Given the description of an element on the screen output the (x, y) to click on. 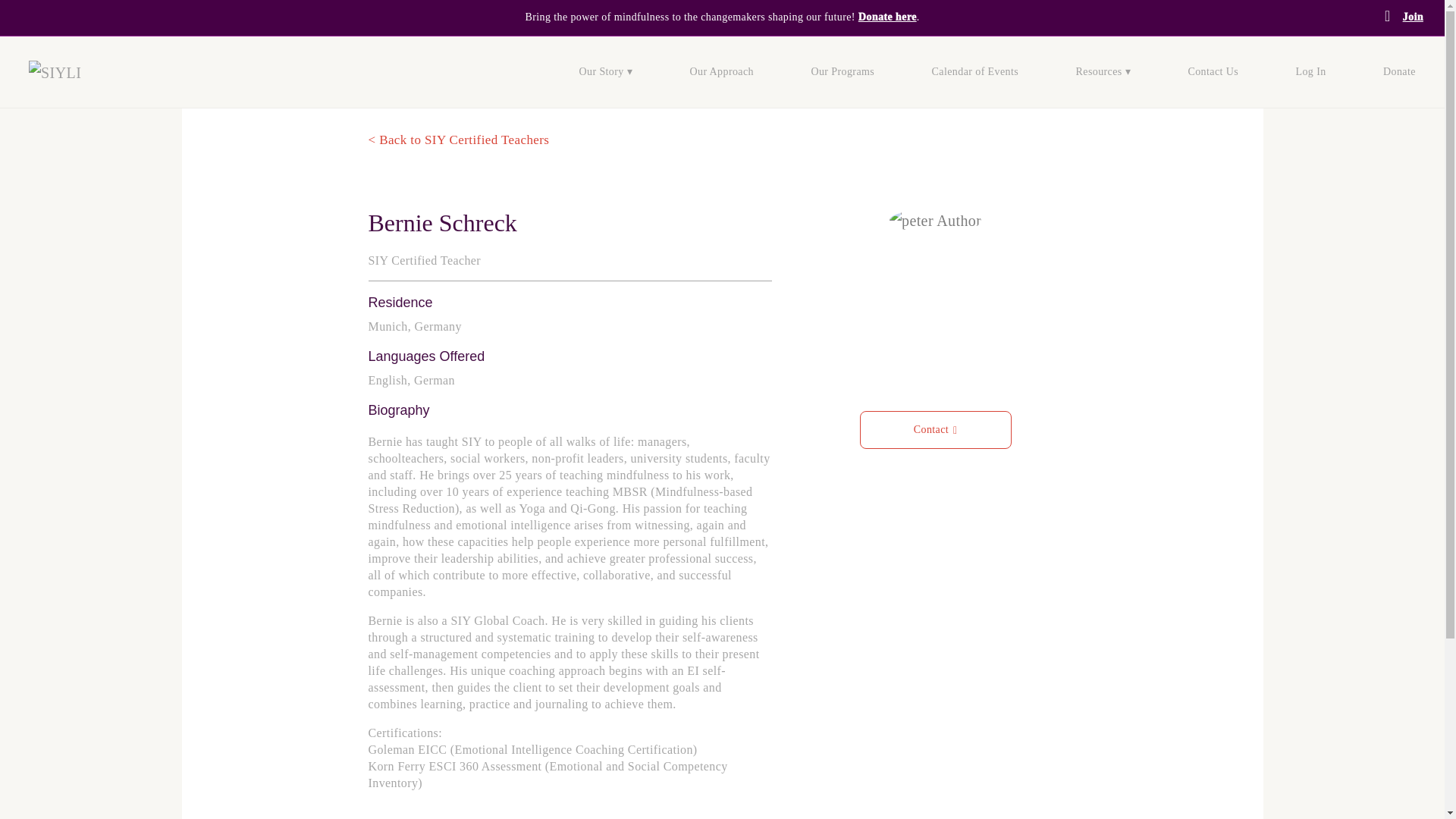
Donate (1399, 72)
Join (1413, 16)
Donate here (888, 16)
Contact (935, 429)
Our Approach (721, 72)
Our Programs (842, 72)
Log In (1309, 72)
Calendar of Events (975, 72)
Contact Us (1213, 72)
